Given the description of an element on the screen output the (x, y) to click on. 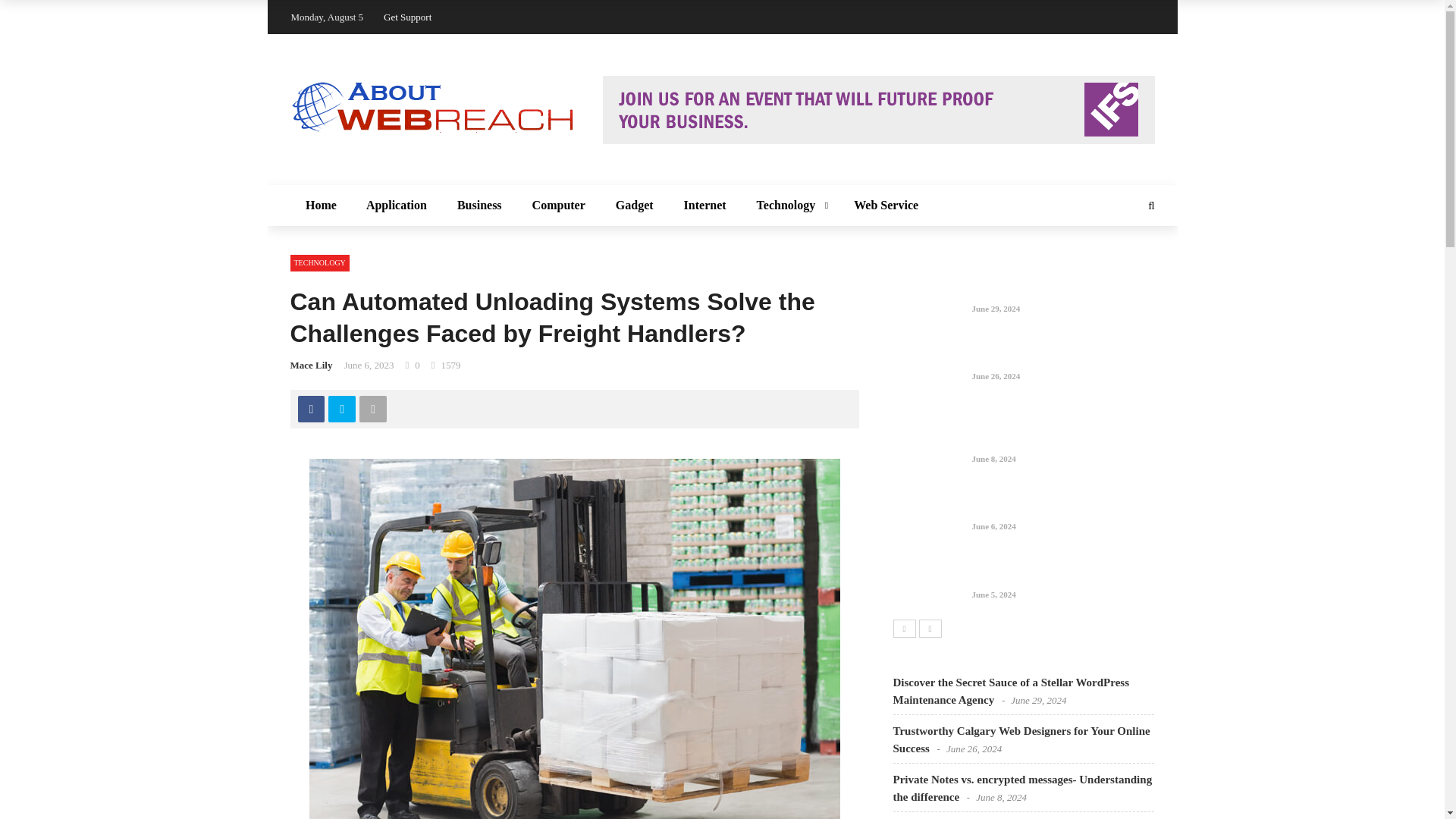
TECHNOLOGY (319, 262)
Technology (789, 205)
Web Service (885, 205)
Home (319, 205)
Get Support (407, 16)
Computer (557, 205)
Mace Lily (310, 365)
Business (479, 205)
Gadget (633, 205)
Internet (704, 205)
Application (396, 205)
